Given the description of an element on the screen output the (x, y) to click on. 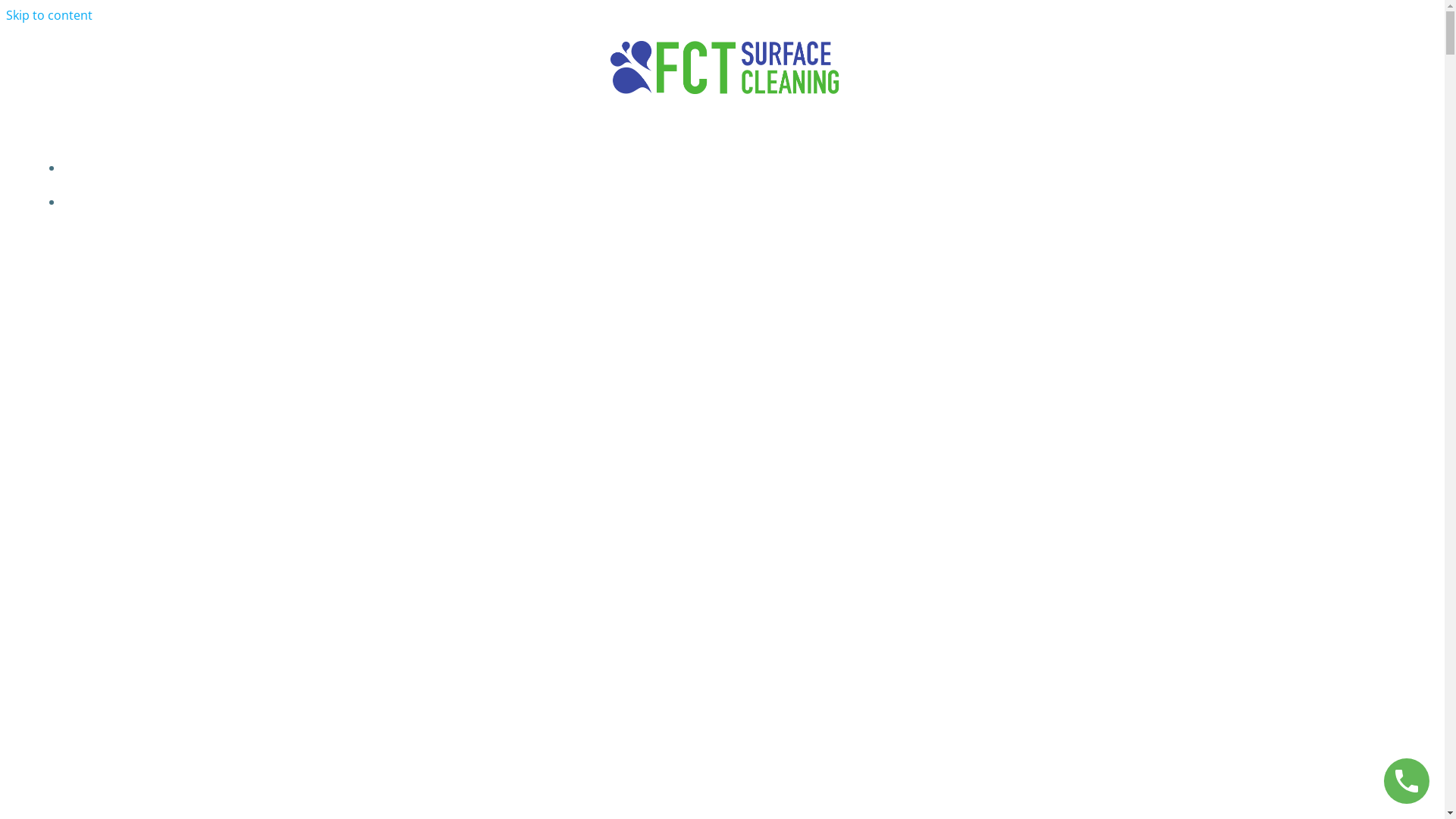
Skip to content Element type: text (49, 14)
HOME Element type: text (737, 167)
